Given the description of an element on the screen output the (x, y) to click on. 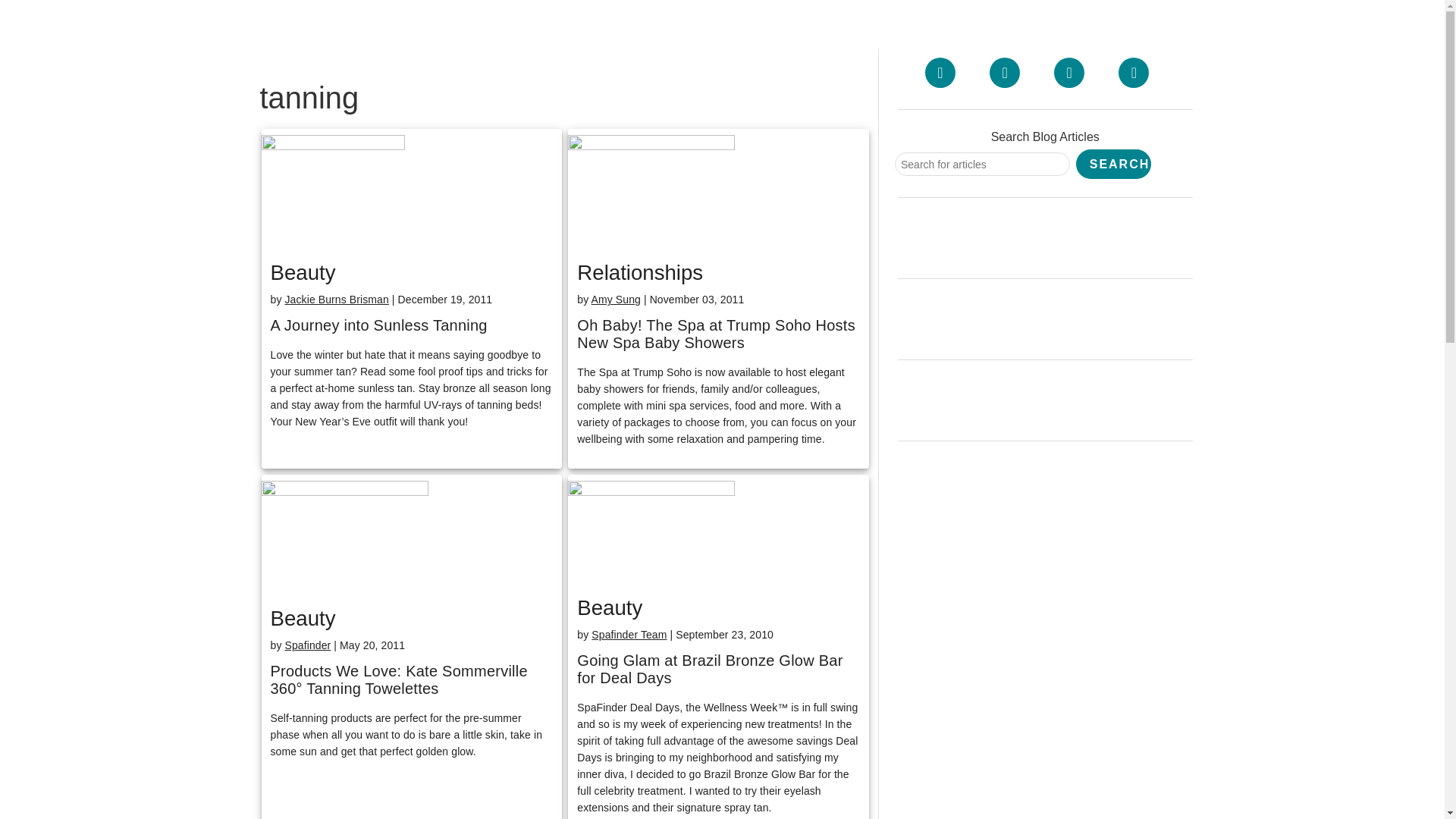
Jackie Burns Brisman (335, 299)
Visit Spafinder on pinterest (1069, 72)
Relationships (639, 272)
Oh Baby! The Spa at Trump Soho Hosts New Spa Baby Showers (718, 334)
Amy Sung (615, 299)
Spafinder (306, 645)
Search (1113, 164)
Beauty (609, 607)
Beauty (301, 617)
Going Glam at Brazil Bronze Glow Bar for Deal Days (718, 669)
